Given the description of an element on the screen output the (x, y) to click on. 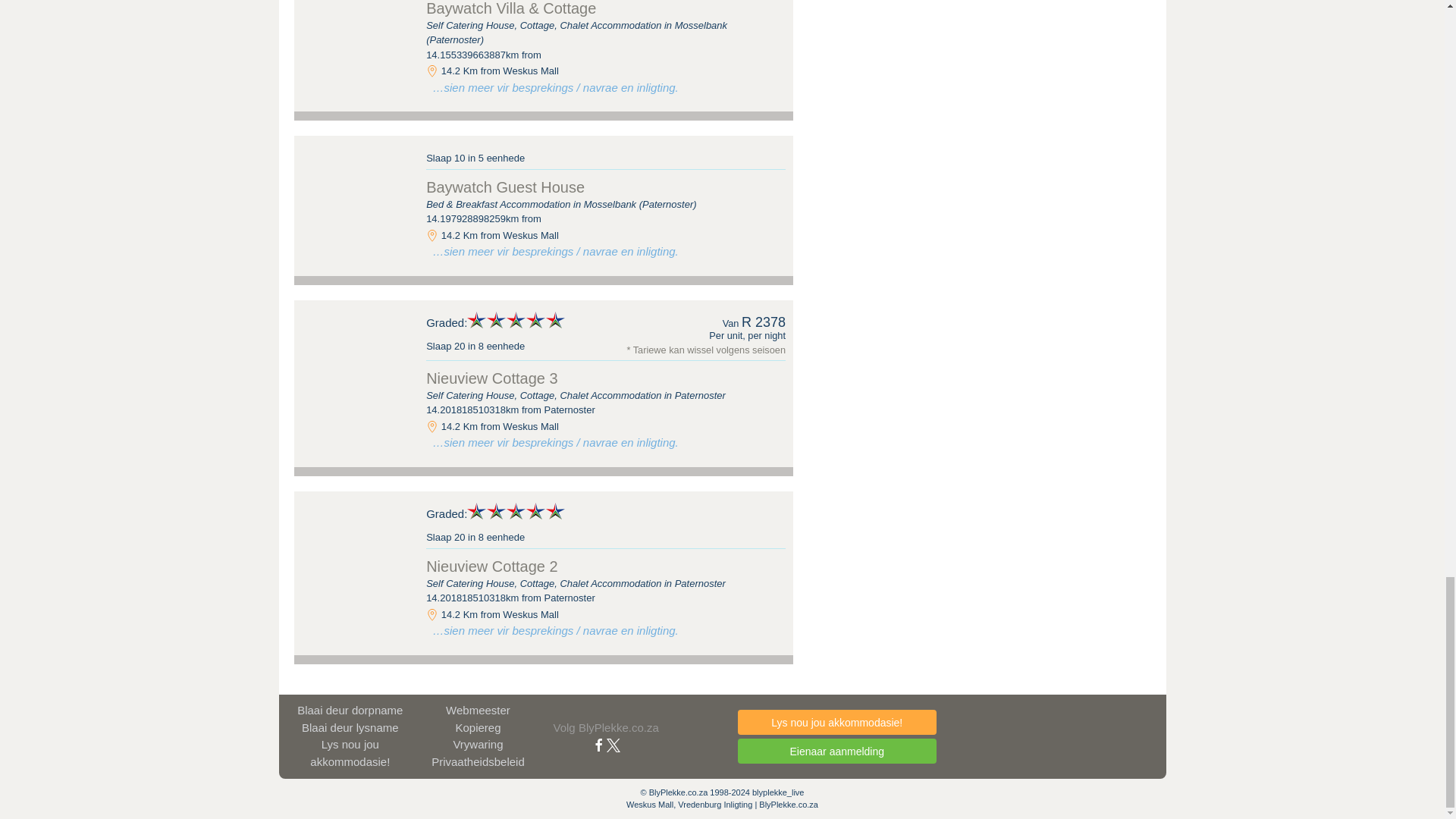
Nieuview Cottage 3 (356, 343)
Facebook (599, 744)
Nieuview Cottage 2 (356, 534)
Baywatch Guest House (356, 179)
